Given the description of an element on the screen output the (x, y) to click on. 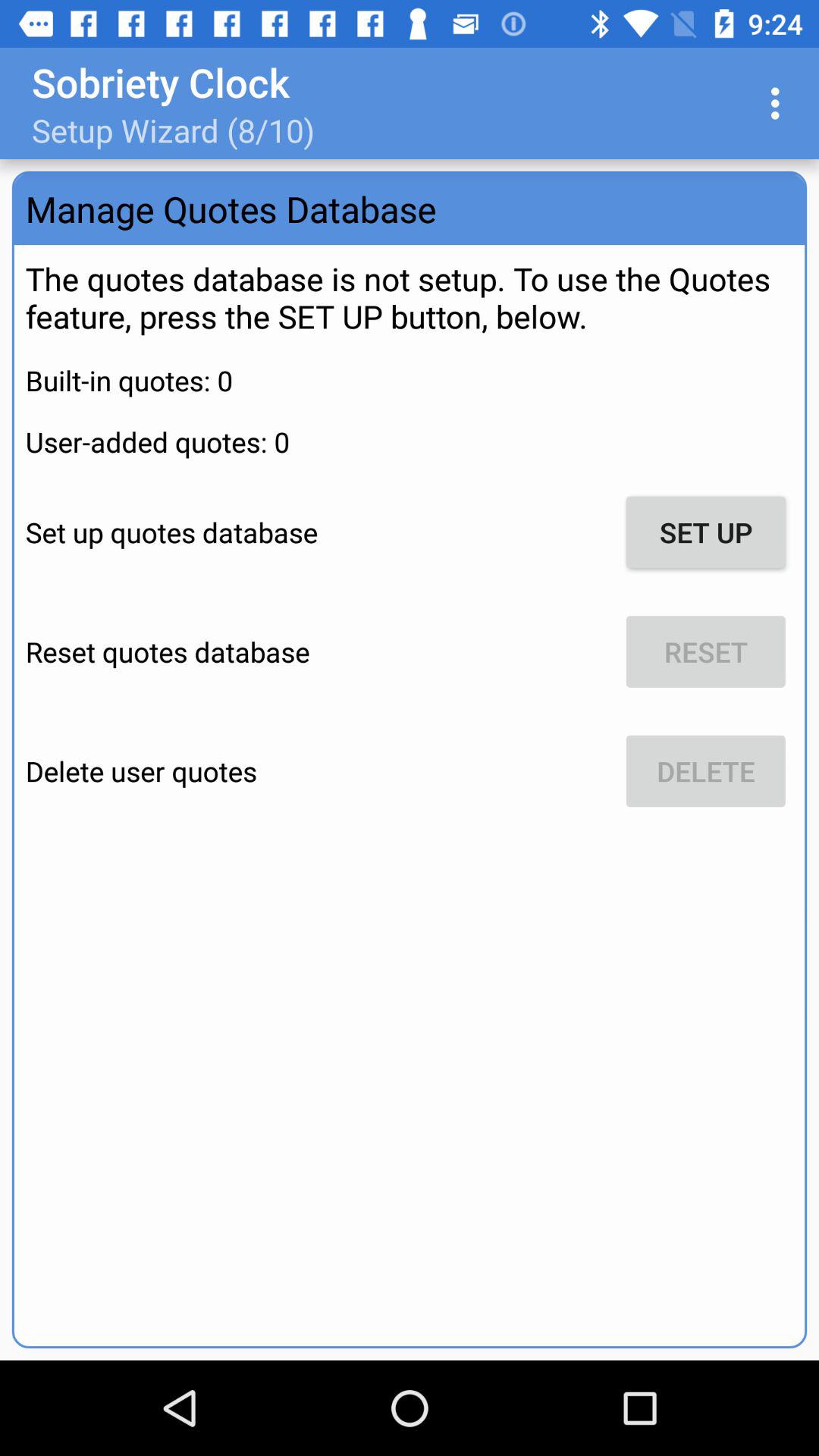
turn on item next to setup wizard 8 (779, 103)
